Given the description of an element on the screen output the (x, y) to click on. 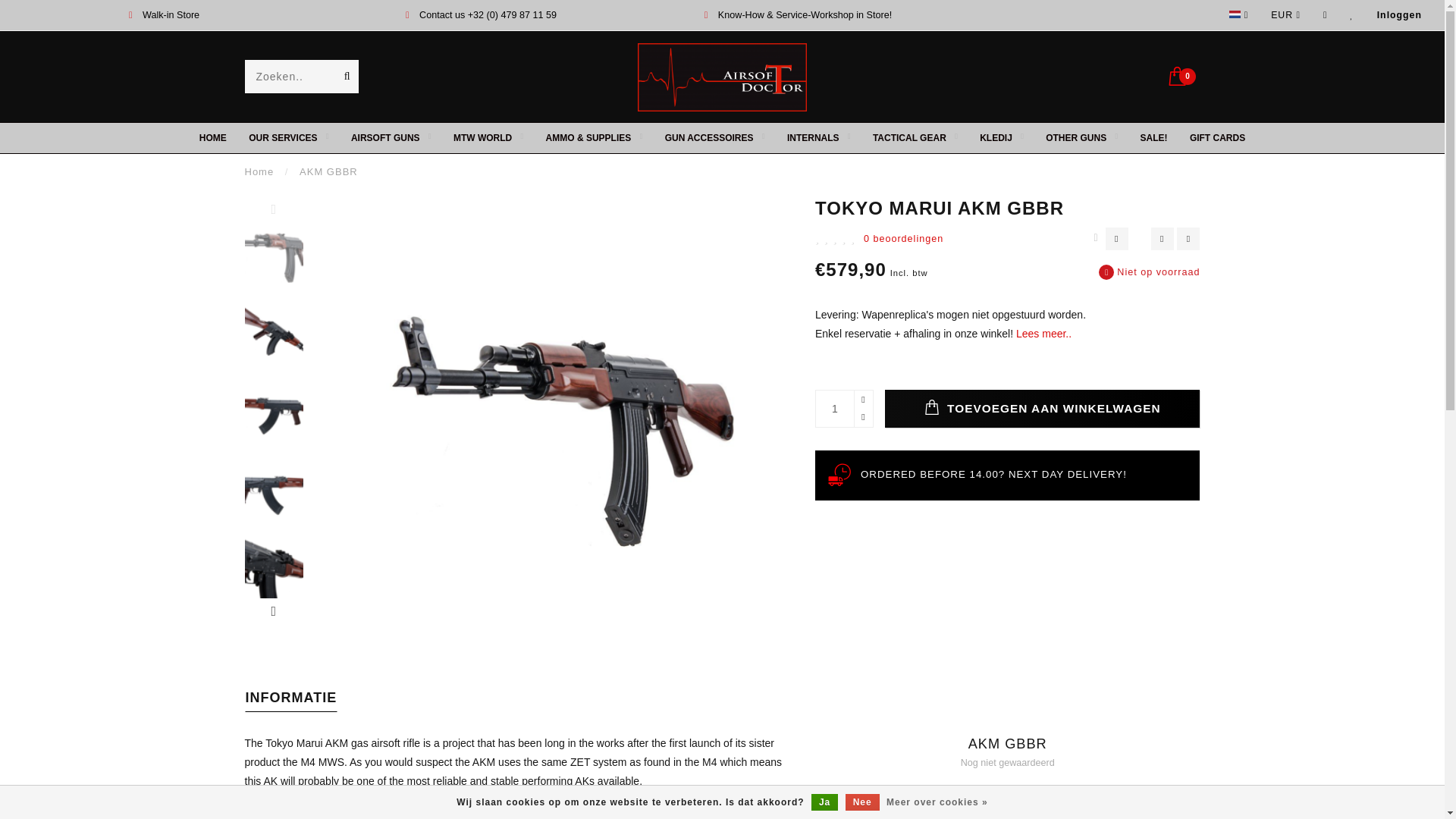
Inloggen (1399, 14)
HOME (213, 137)
Meer over cookies (937, 802)
0 (1183, 74)
EUR (1285, 15)
Home (258, 171)
Aan verlanglijst toevoegen (1162, 238)
OUR SERVICES (288, 137)
1 (843, 408)
AIRSOFT GUNS (390, 137)
Je beoordeling toevoegen (1007, 816)
Nee (862, 801)
Toevoegen om te vergelijken (1187, 238)
Ja (824, 801)
